Given the description of an element on the screen output the (x, y) to click on. 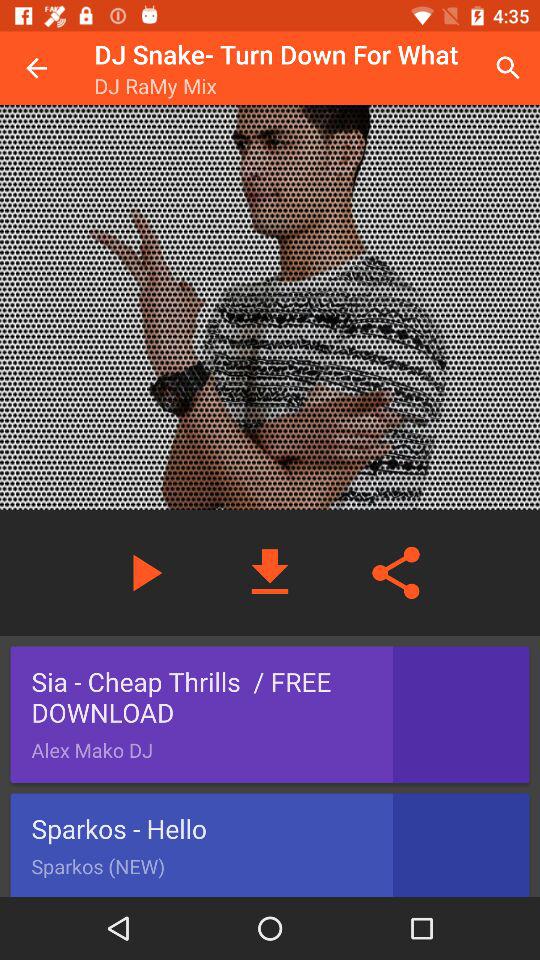
launch the item to the left of the dj snake turn item (36, 68)
